Given the description of an element on the screen output the (x, y) to click on. 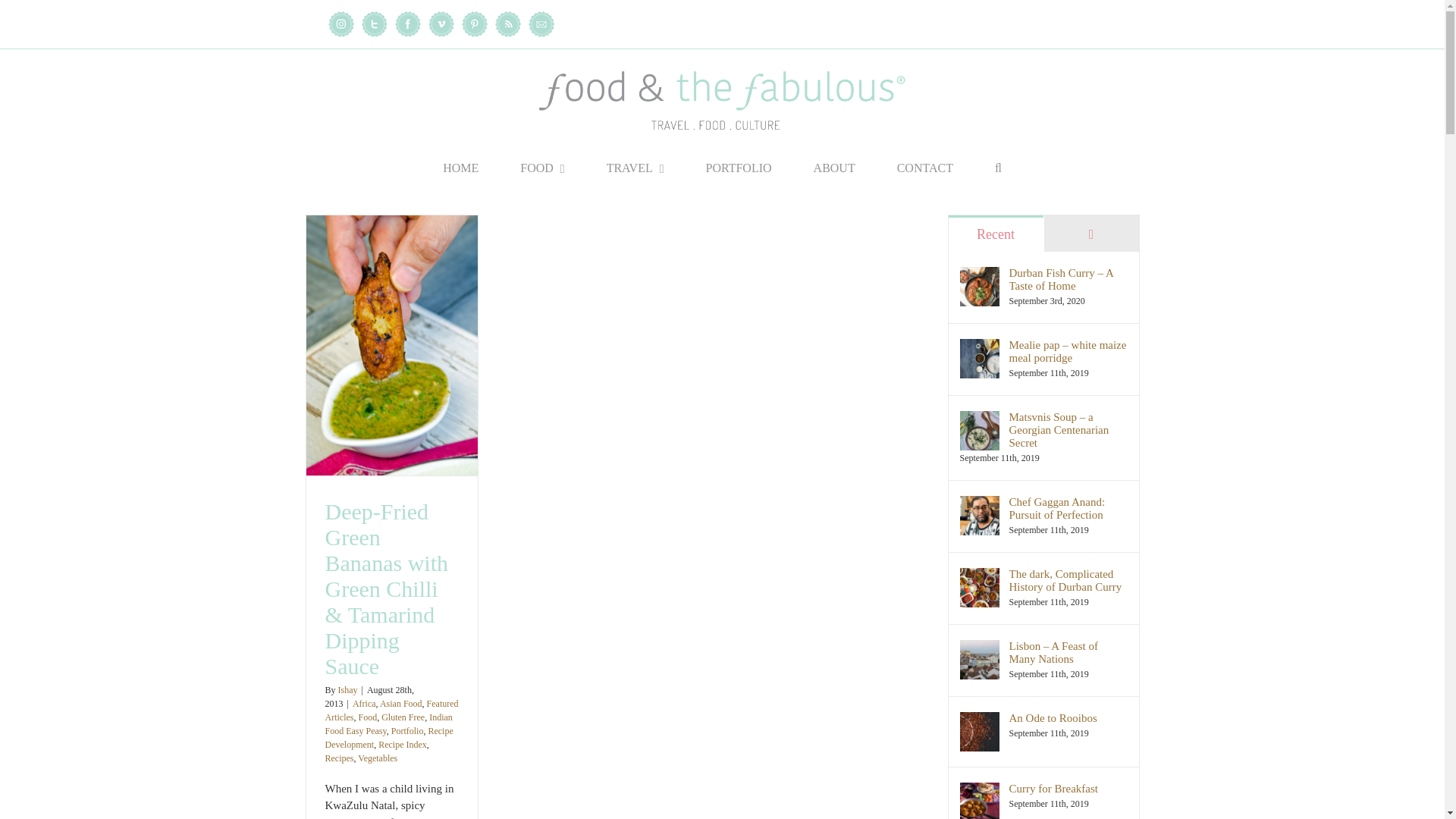
Instagram (340, 23)
FOOD (541, 168)
Gluten Free (403, 716)
Facebook (407, 23)
Twitter (374, 23)
Featured Articles (391, 710)
PORTFOLIO (738, 168)
Africa (363, 703)
RSS Feed (507, 23)
Instagram (340, 23)
Vimeo (440, 23)
Pinterest (473, 23)
Email (540, 23)
Asian Food (401, 703)
CONTACT (924, 168)
